Given the description of an element on the screen output the (x, y) to click on. 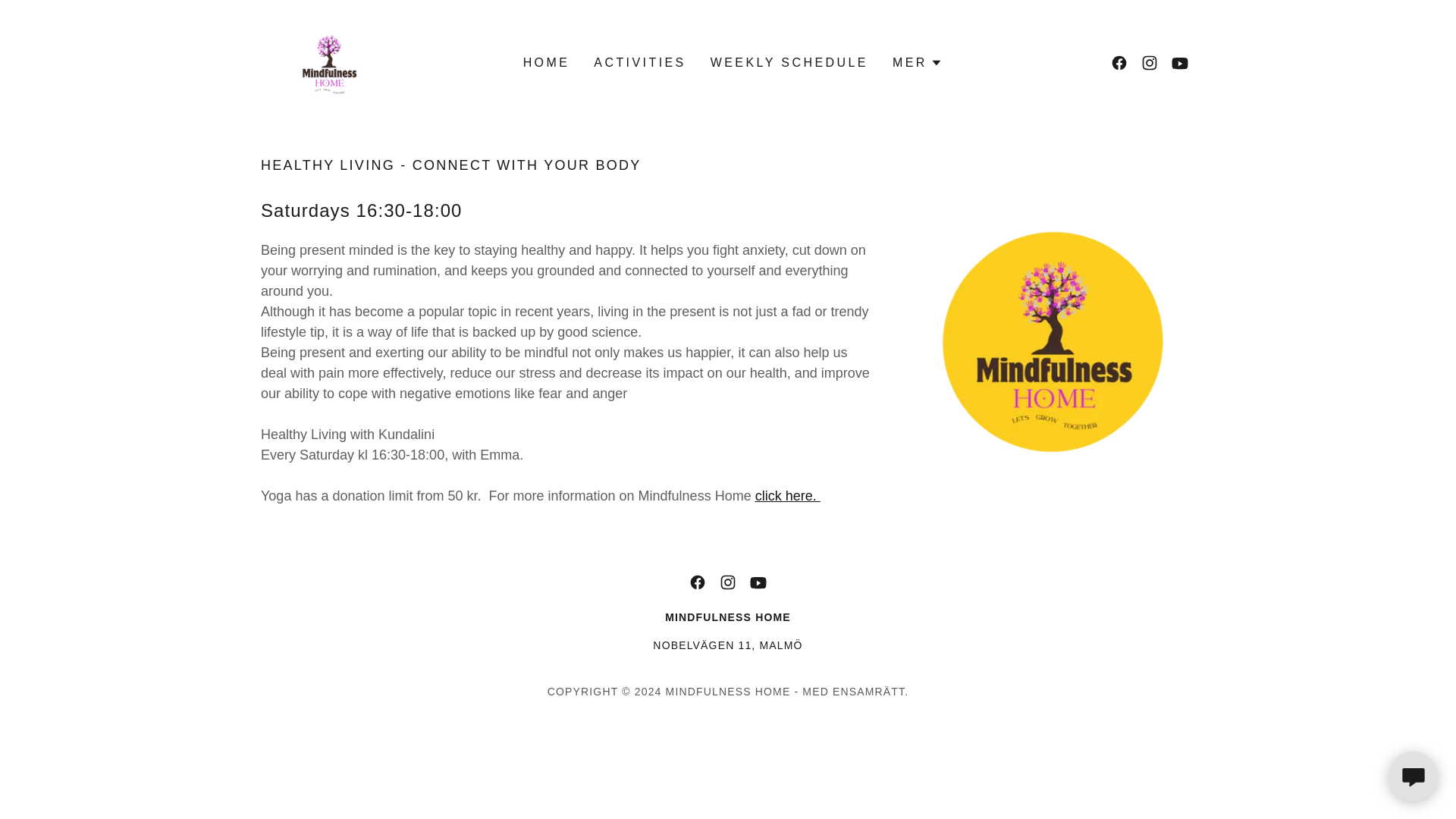
ACTIVITIES (639, 62)
MER (917, 63)
HOME (546, 62)
WEEKLY SCHEDULE (789, 62)
